Given the description of an element on the screen output the (x, y) to click on. 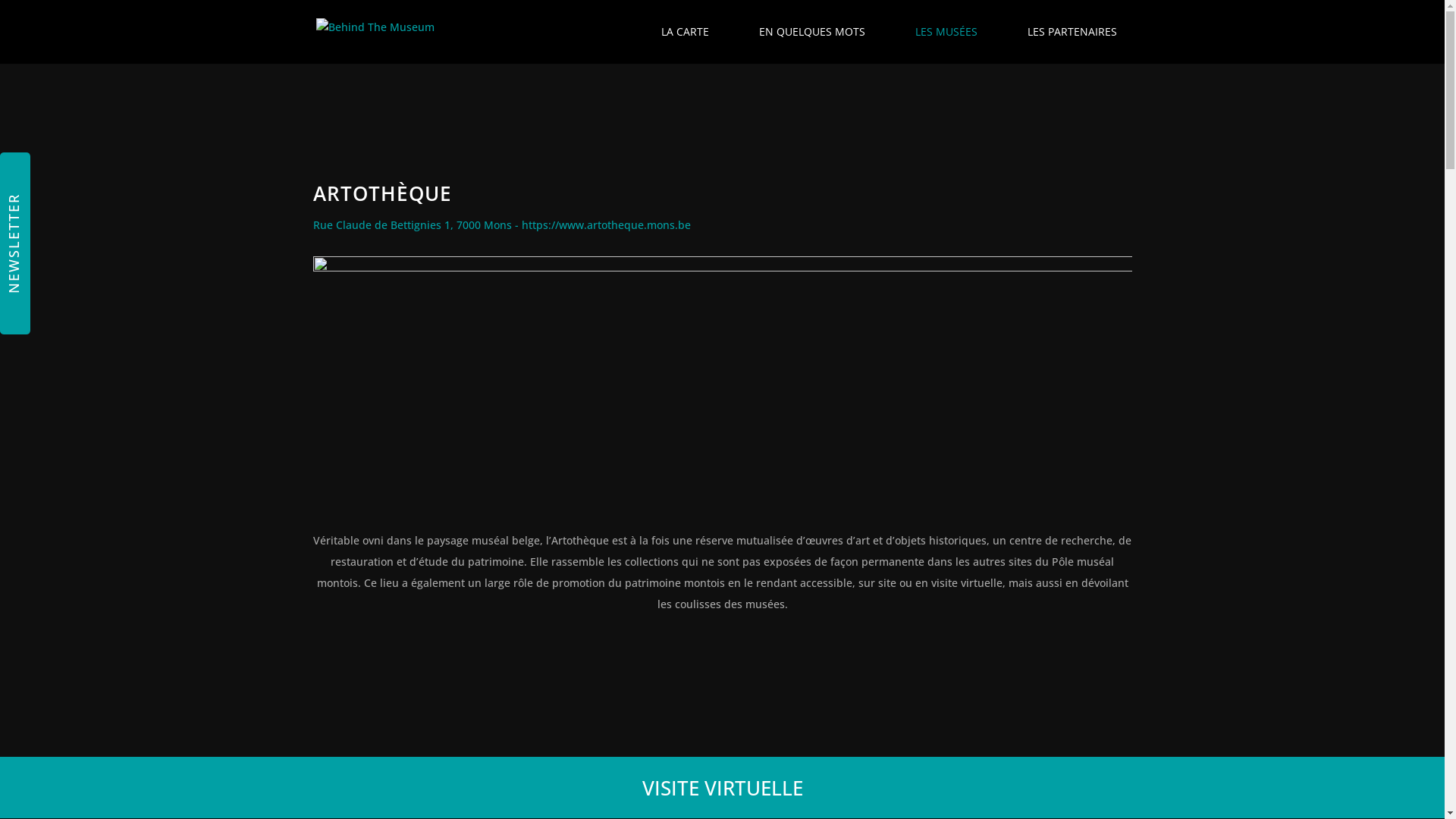
EN QUELQUES MOTS Element type: text (811, 31)
LA CARTE Element type: text (685, 31)
LES PARTENAIRES Element type: text (1071, 31)
